Given the description of an element on the screen output the (x, y) to click on. 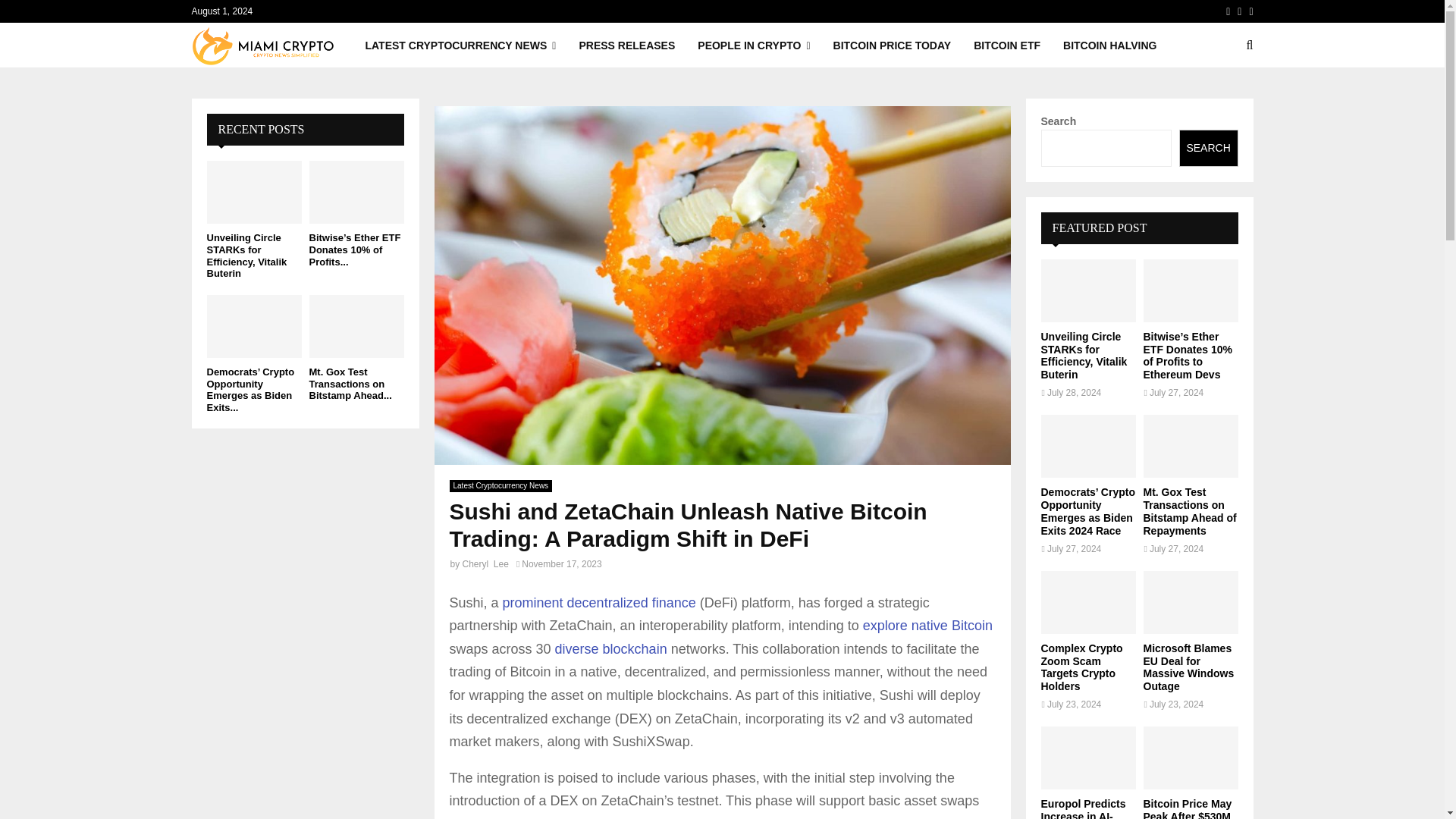
 Unveiling Circle STARKs for Efficiency, Vitalik Buterin  (246, 255)
PEOPLE IN CRYPTO (753, 44)
LATEST CRYPTOCURRENCY NEWS (460, 44)
explore native Bitcoin (927, 625)
BITCOIN HALVING (1109, 44)
Cheryl  Lee (485, 563)
BITCOIN PRICE TODAY (892, 44)
diverse blockchain (612, 648)
PRESS RELEASES (626, 44)
BITCOIN ETF (1007, 44)
prominent decentralized finance (598, 602)
Unveiling Circle STARKs for Efficiency, Vitalik Buterin (253, 191)
Latest Cryptocurrency News (499, 485)
